Given the description of an element on the screen output the (x, y) to click on. 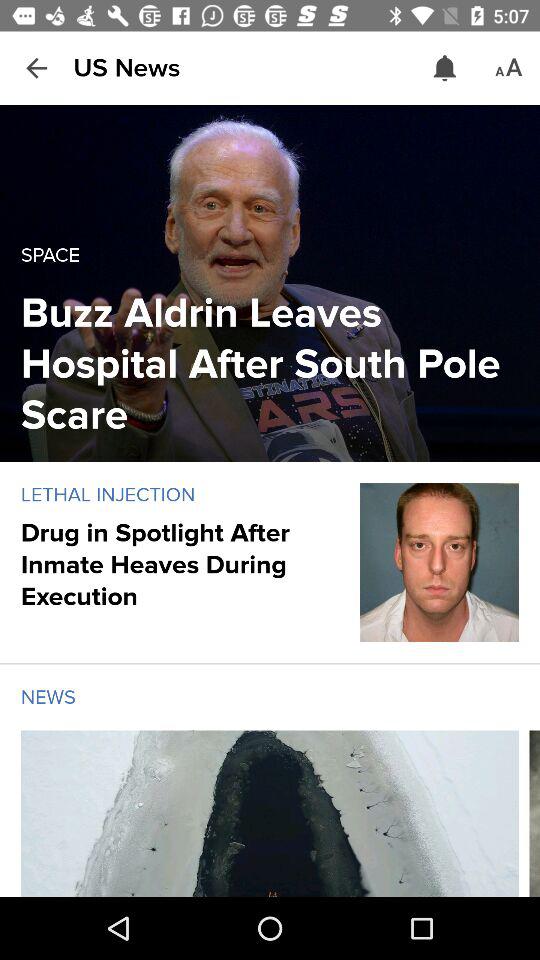
scroll new article (534, 813)
